Given the description of an element on the screen output the (x, y) to click on. 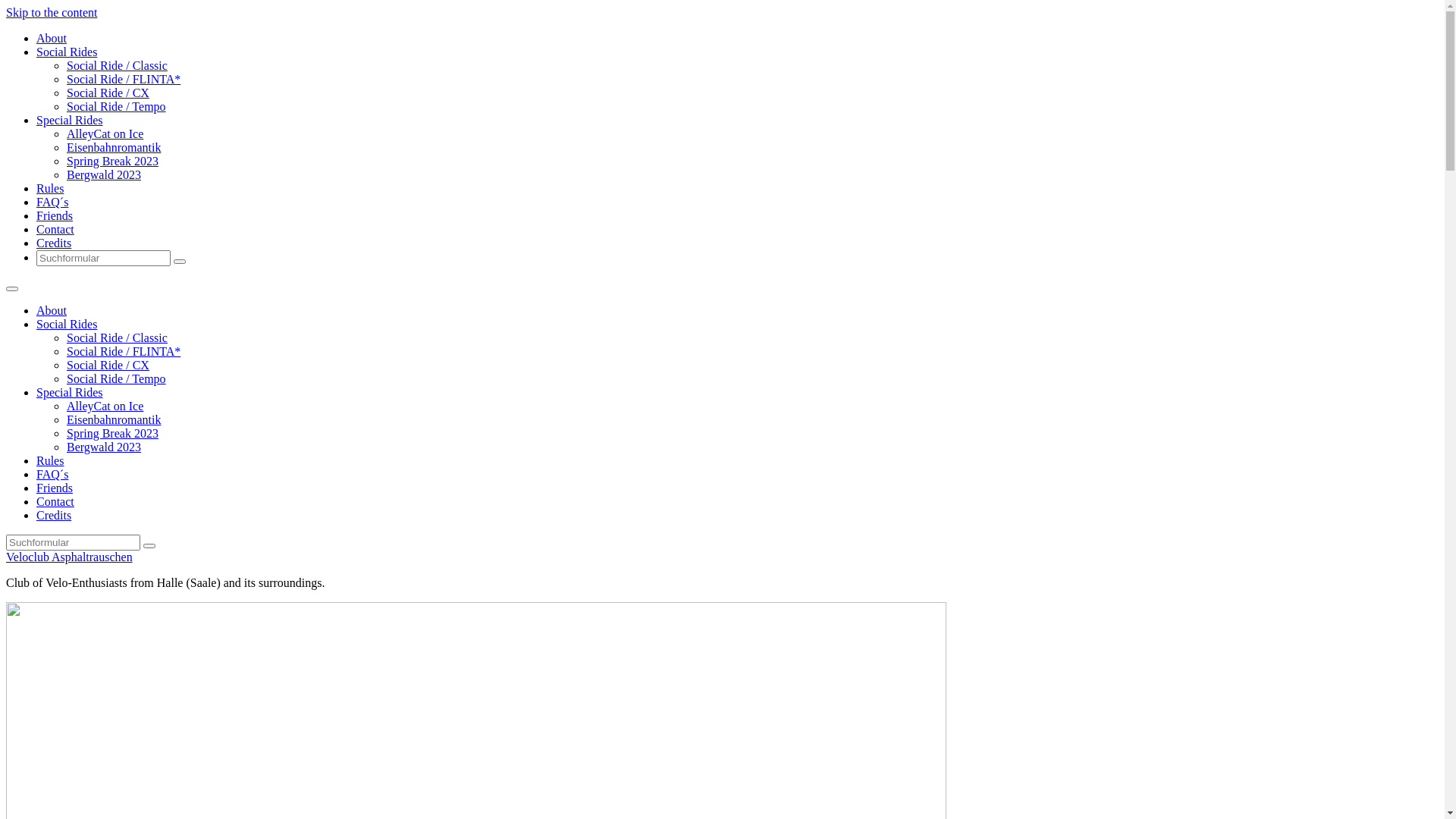
Credits Element type: text (53, 242)
Special Rides Element type: text (69, 391)
Search Element type: text (179, 261)
Search Element type: text (149, 545)
Social Ride / Classic Element type: text (116, 65)
Spring Break 2023 Element type: text (112, 432)
Credits Element type: text (53, 514)
Veloclub Asphaltrauschen Element type: text (69, 556)
Bergwald 2023 Element type: text (103, 174)
Social Ride / CX Element type: text (107, 92)
Friends Element type: text (54, 215)
AlleyCat on Ice Element type: text (104, 405)
Bergwald 2023 Element type: text (103, 446)
Special Rides Element type: text (69, 119)
Spring Break 2023 Element type: text (112, 160)
About Element type: text (51, 310)
Social Rides Element type: text (66, 51)
Friends Element type: text (54, 487)
Social Ride / Tempo Element type: text (116, 106)
Eisenbahnromantik Element type: text (113, 419)
Social Ride / CX Element type: text (107, 364)
Social Ride / FLINTA* Element type: text (123, 351)
Skip to the content Element type: text (51, 12)
Rules Element type: text (49, 460)
Social Ride / Tempo Element type: text (116, 378)
Social Rides Element type: text (66, 323)
Rules Element type: text (49, 188)
Social Ride / Classic Element type: text (116, 337)
Contact Element type: text (55, 228)
Contact Element type: text (55, 501)
Social Ride / FLINTA* Element type: text (123, 78)
Eisenbahnromantik Element type: text (113, 147)
AlleyCat on Ice Element type: text (104, 133)
About Element type: text (51, 37)
